Given the description of an element on the screen output the (x, y) to click on. 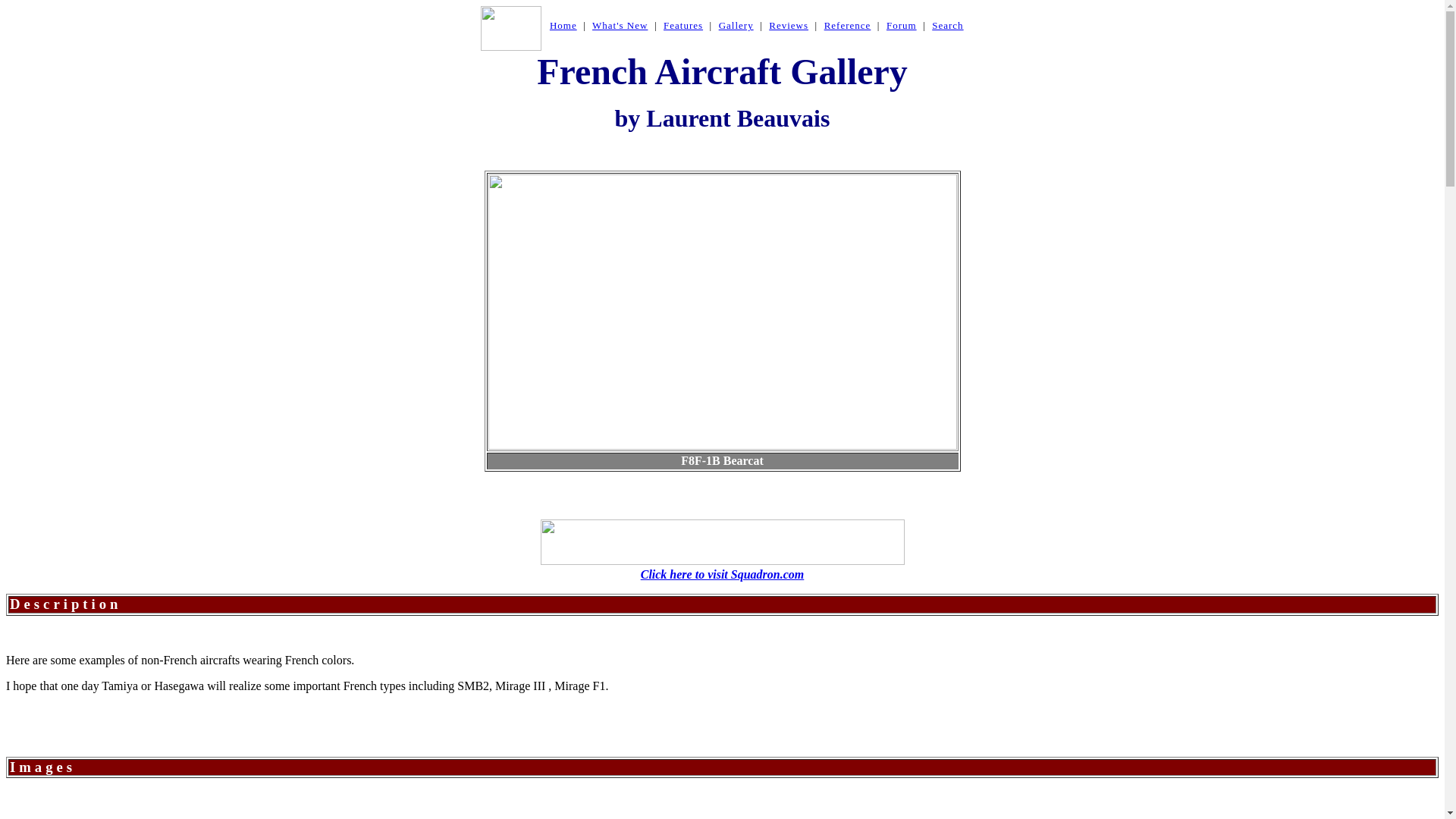
Gallery (736, 25)
Search (946, 25)
Reference (847, 25)
What's New (619, 25)
Forum (901, 25)
Reviews (788, 25)
Click here to visit Squadron.com (722, 574)
Features (683, 25)
Home (563, 25)
